Given the description of an element on the screen output the (x, y) to click on. 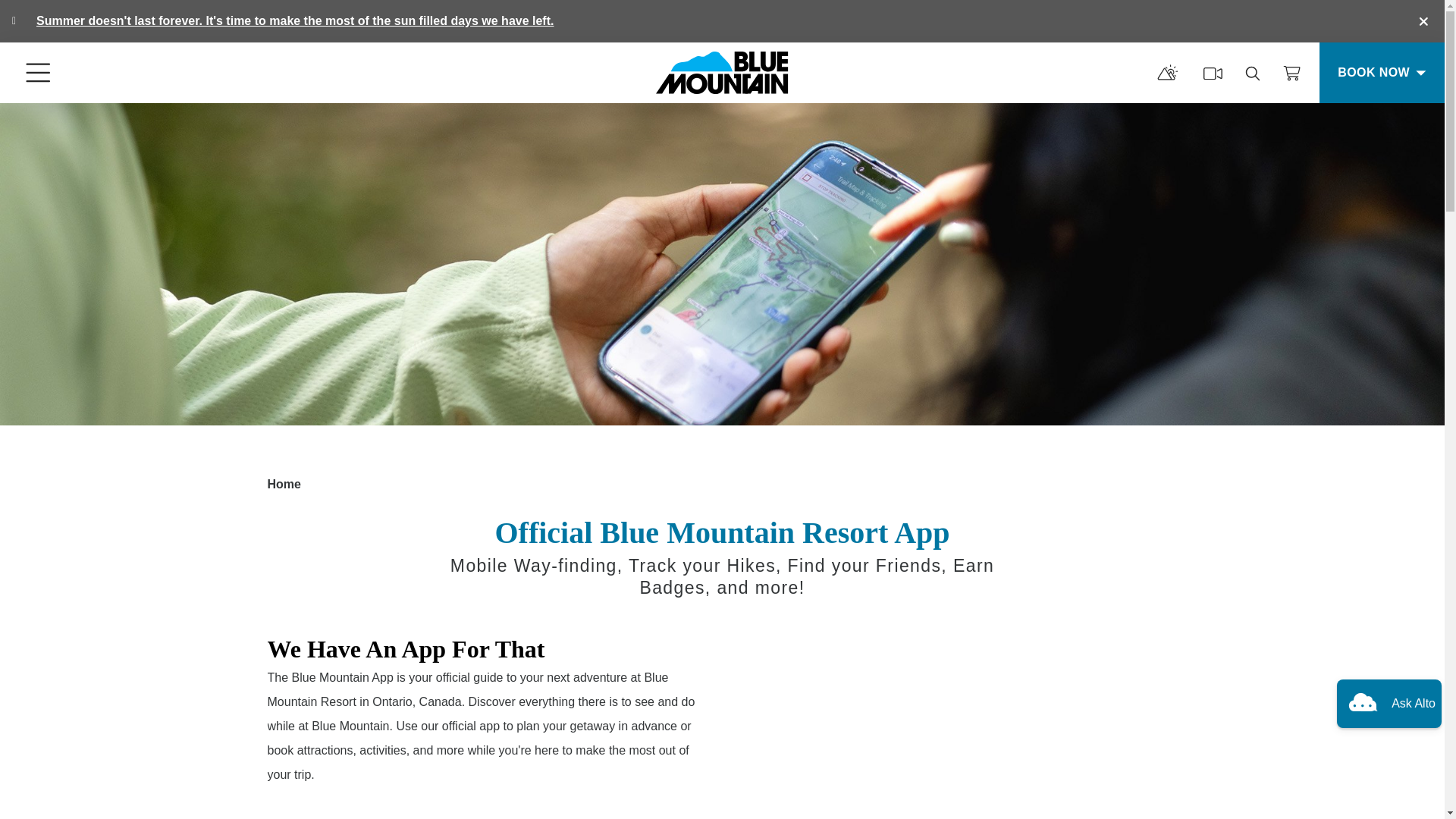
Close (1422, 21)
Blue Mountain Logo (722, 72)
Menu (37, 72)
